Given the description of an element on the screen output the (x, y) to click on. 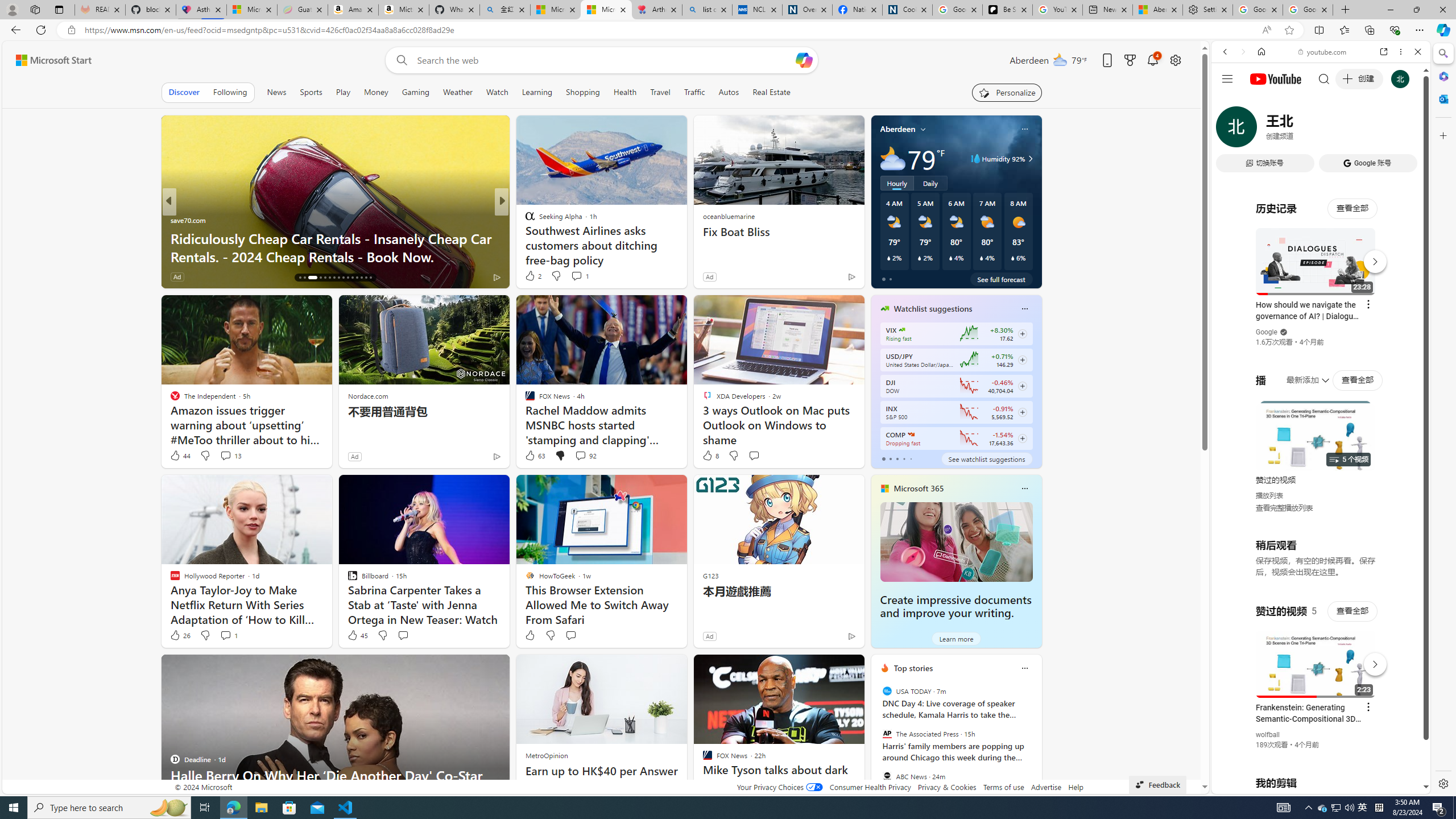
#you (1320, 253)
Complicated app settings are a threat to user privacy (684, 256)
Settings (1207, 9)
Real Estate (771, 92)
Workspaces (34, 9)
NASDAQ (910, 434)
Personal Profile (12, 9)
Create impressive documents and improve your writing. (955, 541)
AutomationID: tab-28 (361, 277)
Search the web (1326, 78)
